Given the description of an element on the screen output the (x, y) to click on. 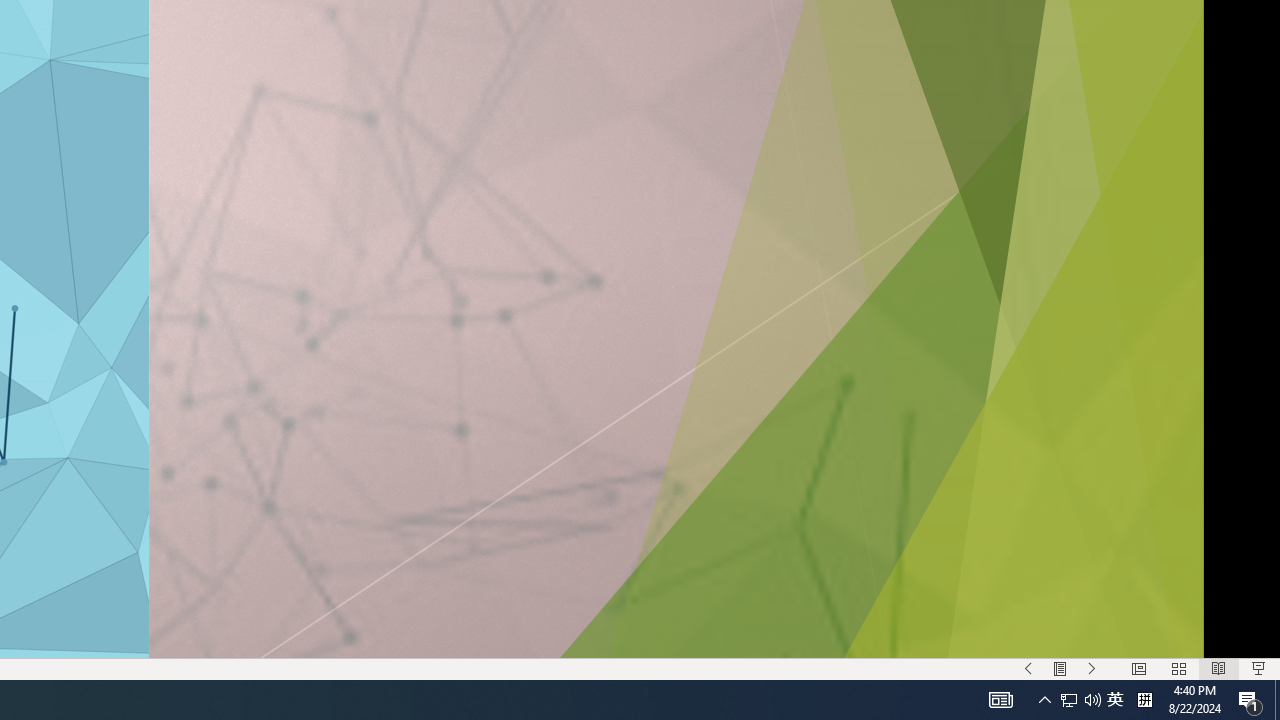
Menu On (1060, 668)
Slide Show Previous On (1028, 668)
Slide Show Next On (1092, 668)
